Given the description of an element on the screen output the (x, y) to click on. 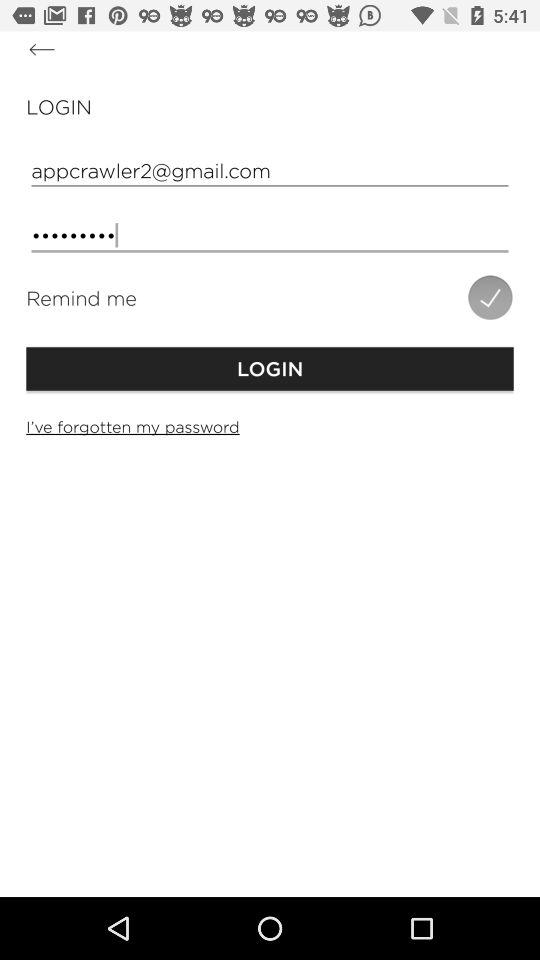
flip to appcrawler2@gmail.com item (269, 170)
